Given the description of an element on the screen output the (x, y) to click on. 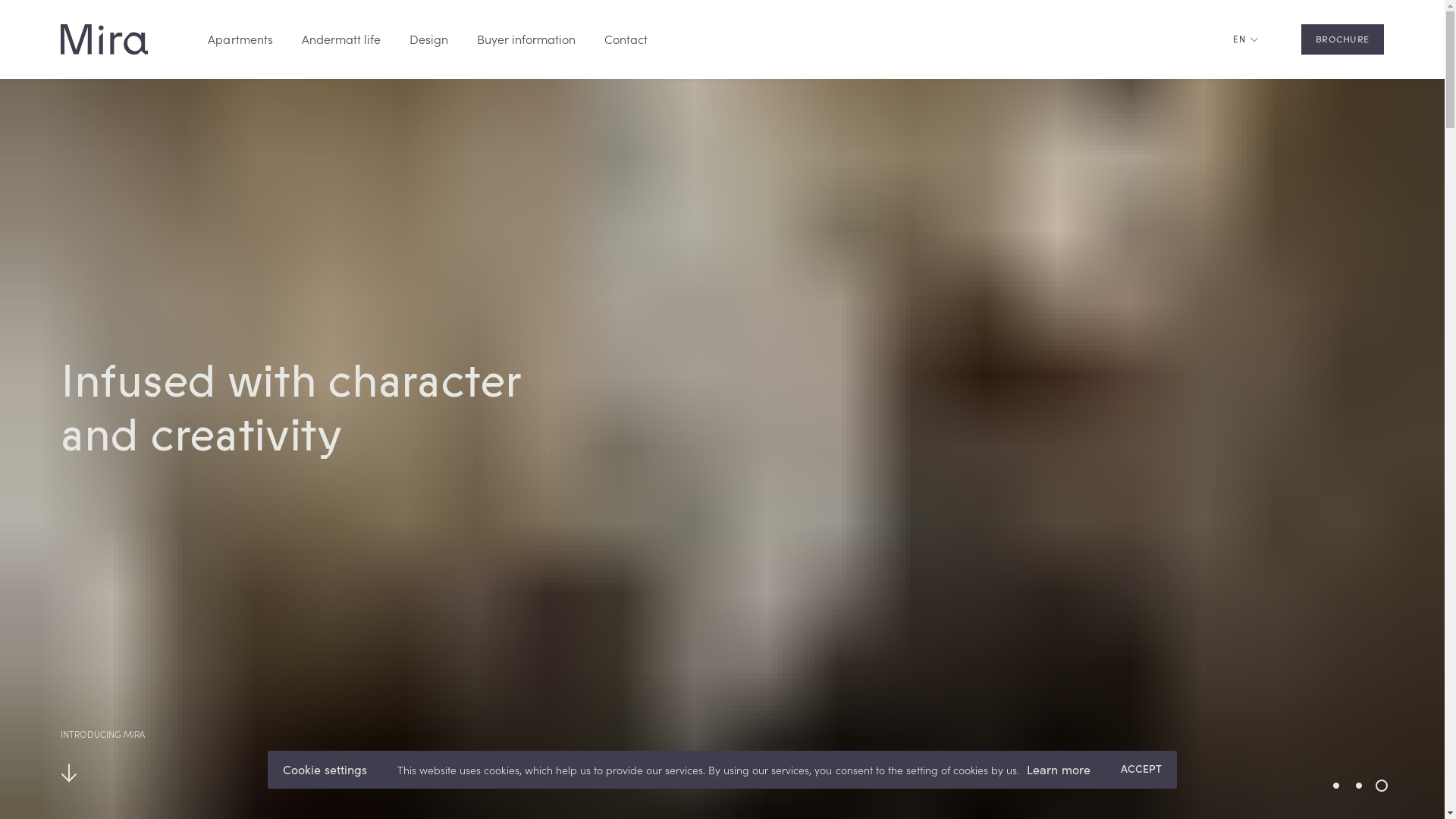
Design Element type: text (428, 39)
Contact Element type: text (625, 39)
BROCHURE Element type: text (1342, 39)
Andermatt life Element type: text (340, 39)
Buyer information Element type: text (525, 39)
Apartments Element type: text (239, 39)
Learn more Element type: text (1058, 770)
